Given the description of an element on the screen output the (x, y) to click on. 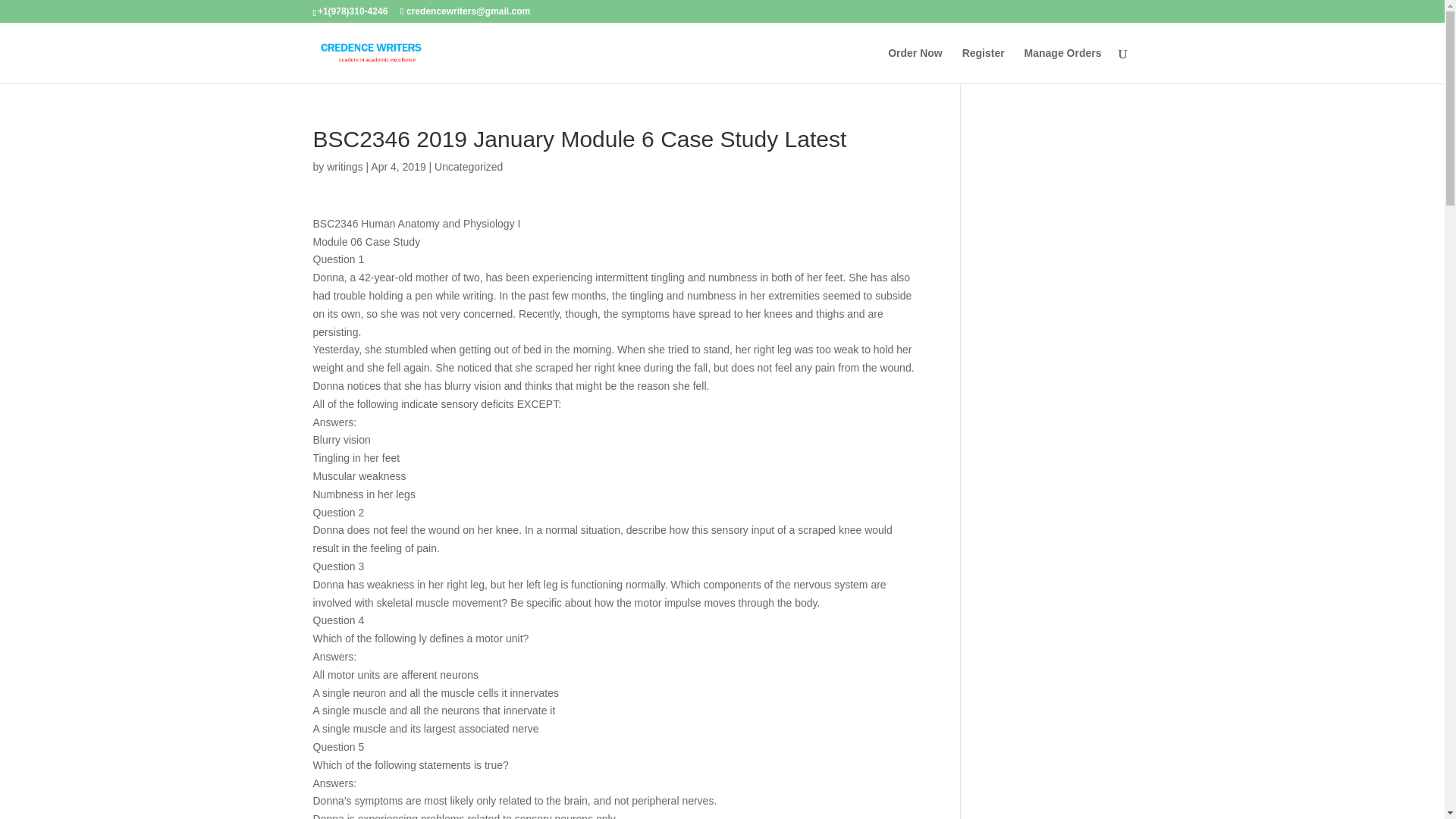
Manage Orders (1063, 65)
Register (983, 65)
writings (344, 166)
Posts by writings (344, 166)
Order Now (915, 65)
